Given the description of an element on the screen output the (x, y) to click on. 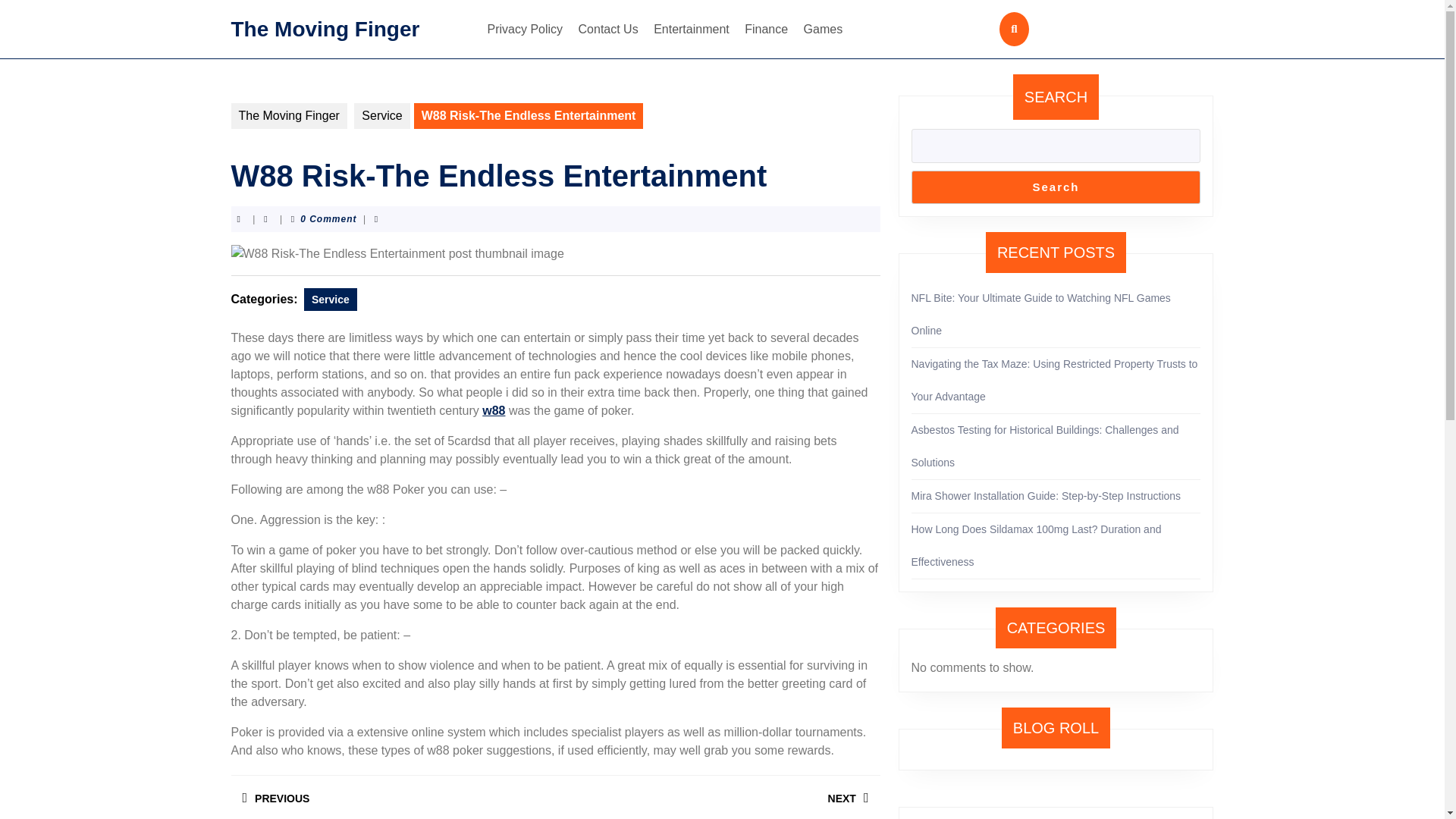
Service (392, 796)
Mira Shower Installation Guide: Step-by-Step Instructions (330, 299)
The Moving Finger (1045, 495)
NFL Bite: Your Ultimate Guide to Watching NFL Games Online (288, 115)
Entertainment (1040, 313)
w88 (691, 28)
The Moving Finger (493, 410)
Finance (324, 28)
Search (765, 28)
Privacy Policy (1056, 186)
Contact Us (524, 28)
